Given the description of an element on the screen output the (x, y) to click on. 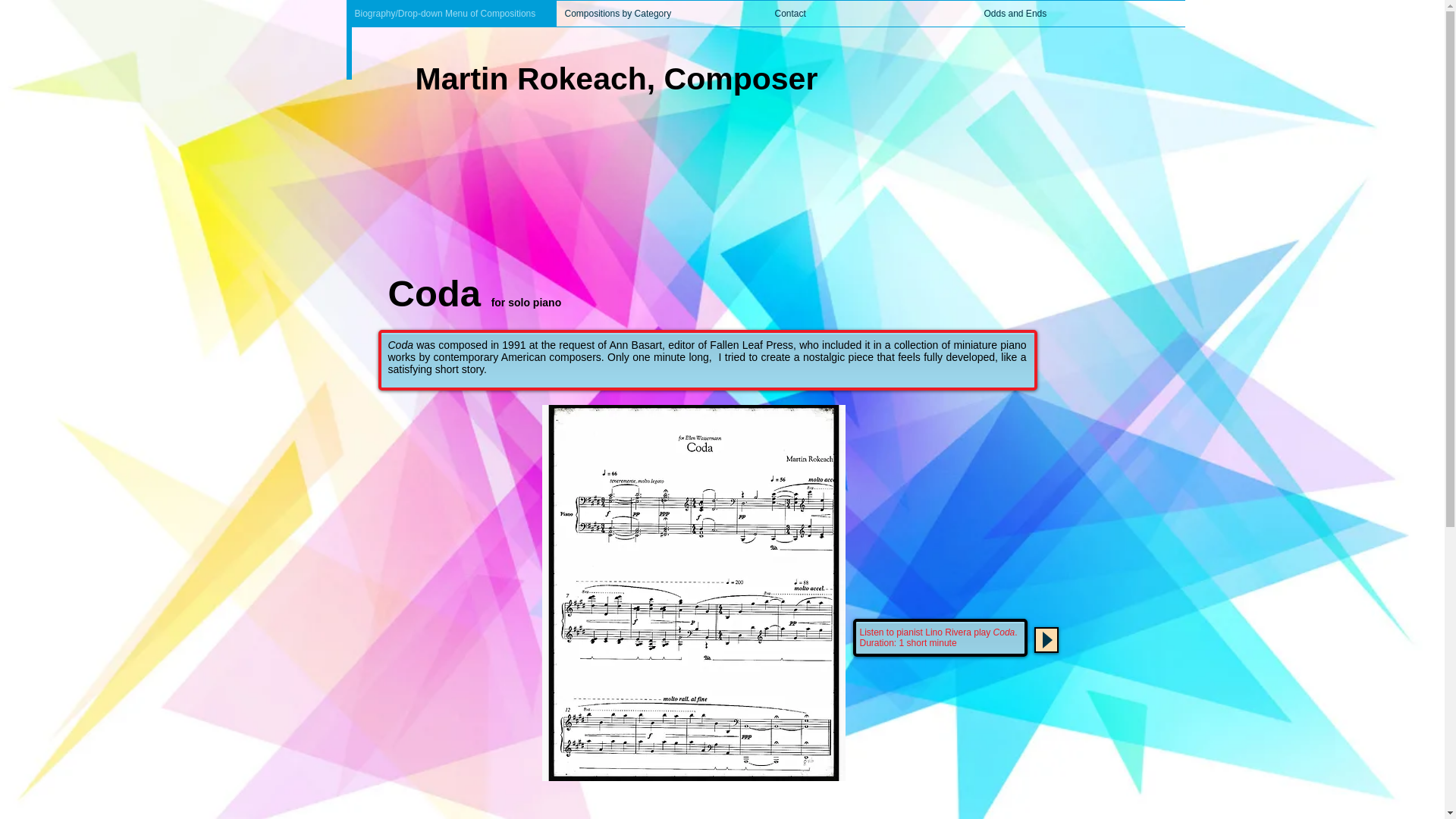
Contact (870, 13)
Odds and Ends (1080, 13)
Compositions by Category (661, 13)
Coda.jpeg (692, 592)
